Given the description of an element on the screen output the (x, y) to click on. 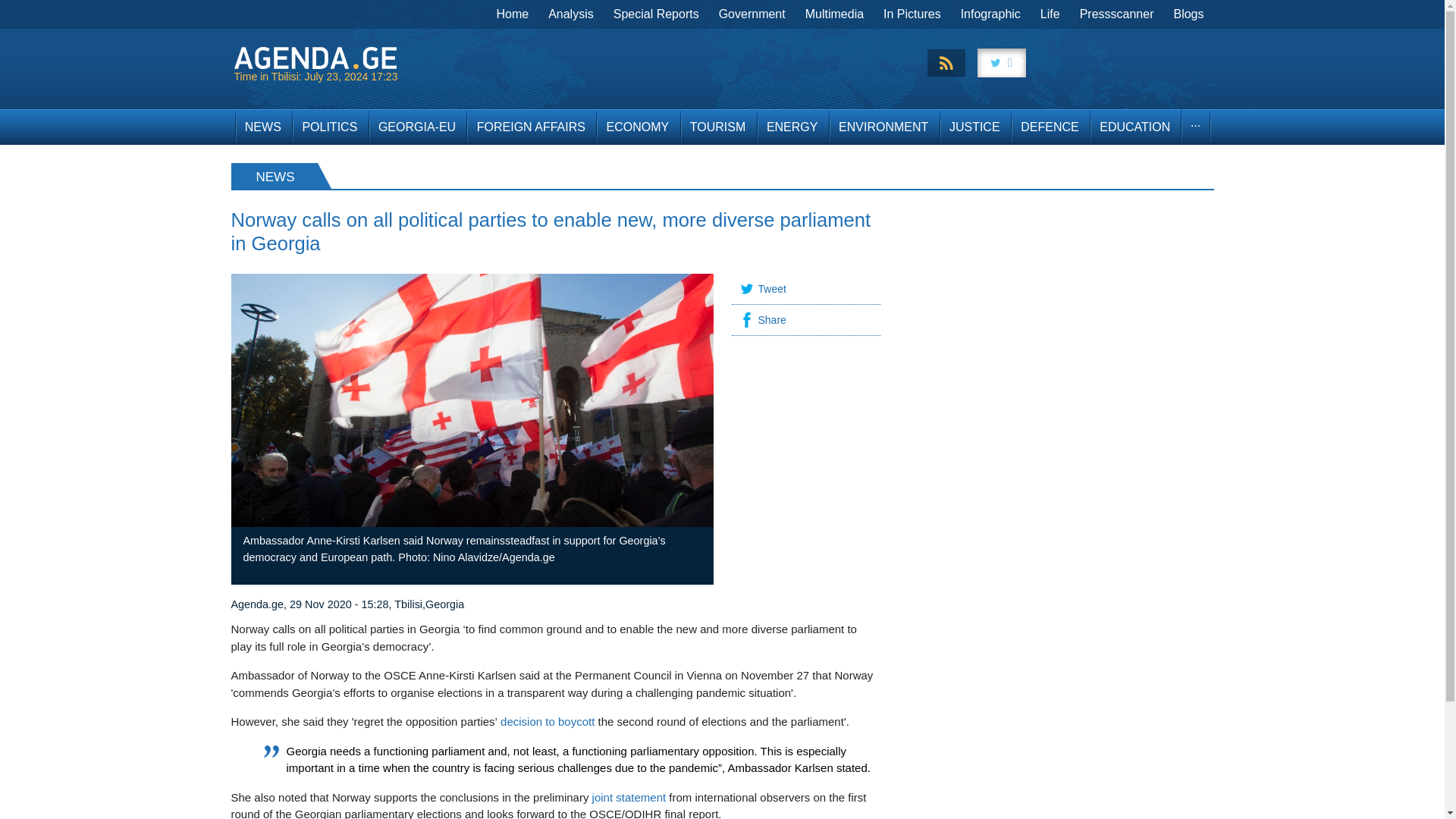
Life (1050, 14)
Infographic (990, 14)
Pressscanner (1116, 14)
Multimedia (833, 14)
Blogs (1187, 14)
Government (751, 14)
NEWS (262, 126)
Special Reports (656, 14)
In Pictures (911, 14)
Analysis (571, 14)
Home (512, 14)
